Given the description of an element on the screen output the (x, y) to click on. 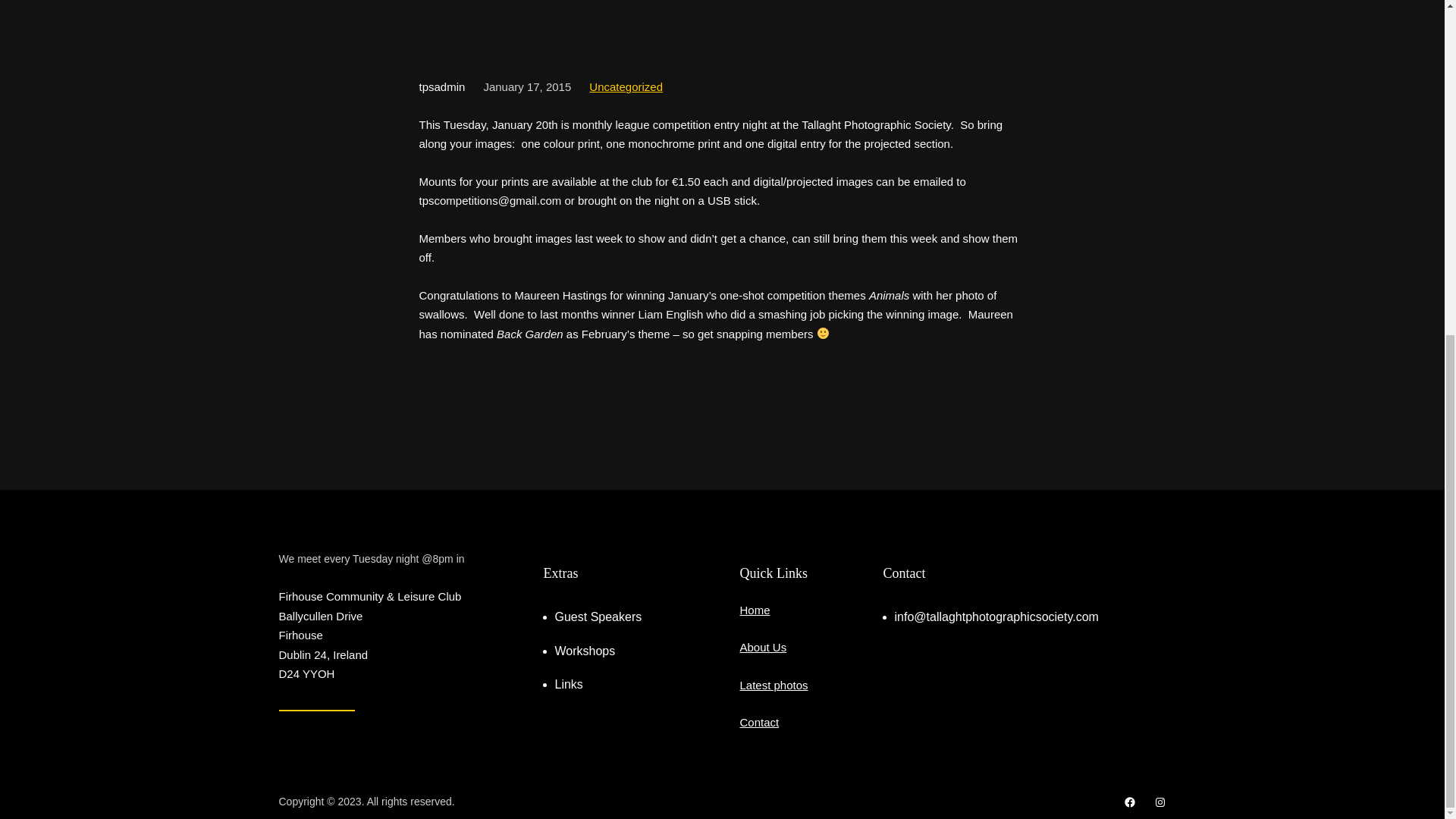
Facebook (1129, 802)
Instagram (1160, 802)
Home (754, 609)
Contact (758, 721)
About Us (763, 646)
Uncategorized (625, 86)
Latest photos (773, 684)
